Given the description of an element on the screen output the (x, y) to click on. 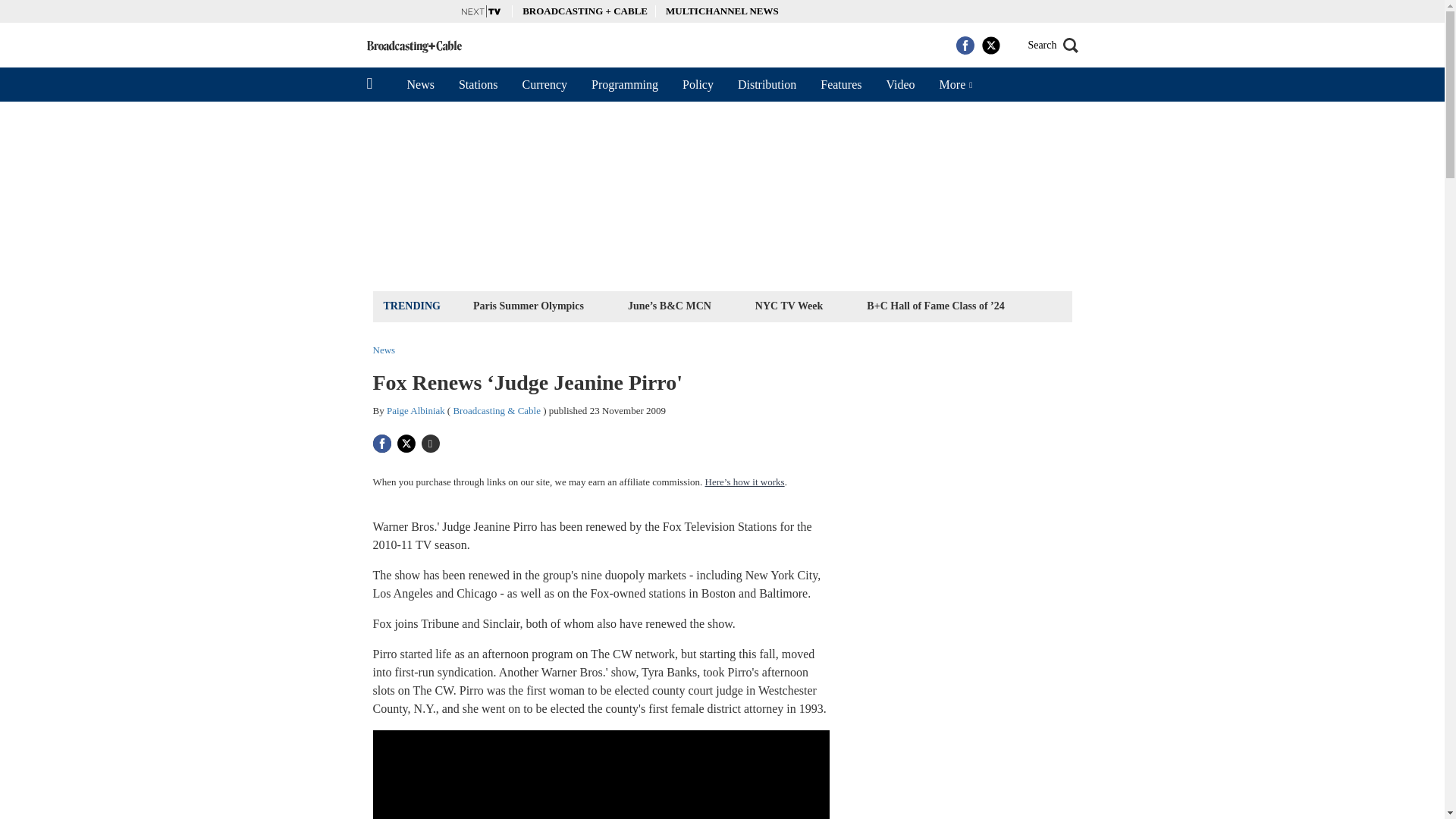
Currency (544, 84)
Paris Summer Olympics (528, 305)
Paige Albiniak (416, 410)
NYC TV Week (788, 305)
Distribution (766, 84)
Stations (478, 84)
Video (899, 84)
Features (840, 84)
News (419, 84)
Programming (624, 84)
